Given the description of an element on the screen output the (x, y) to click on. 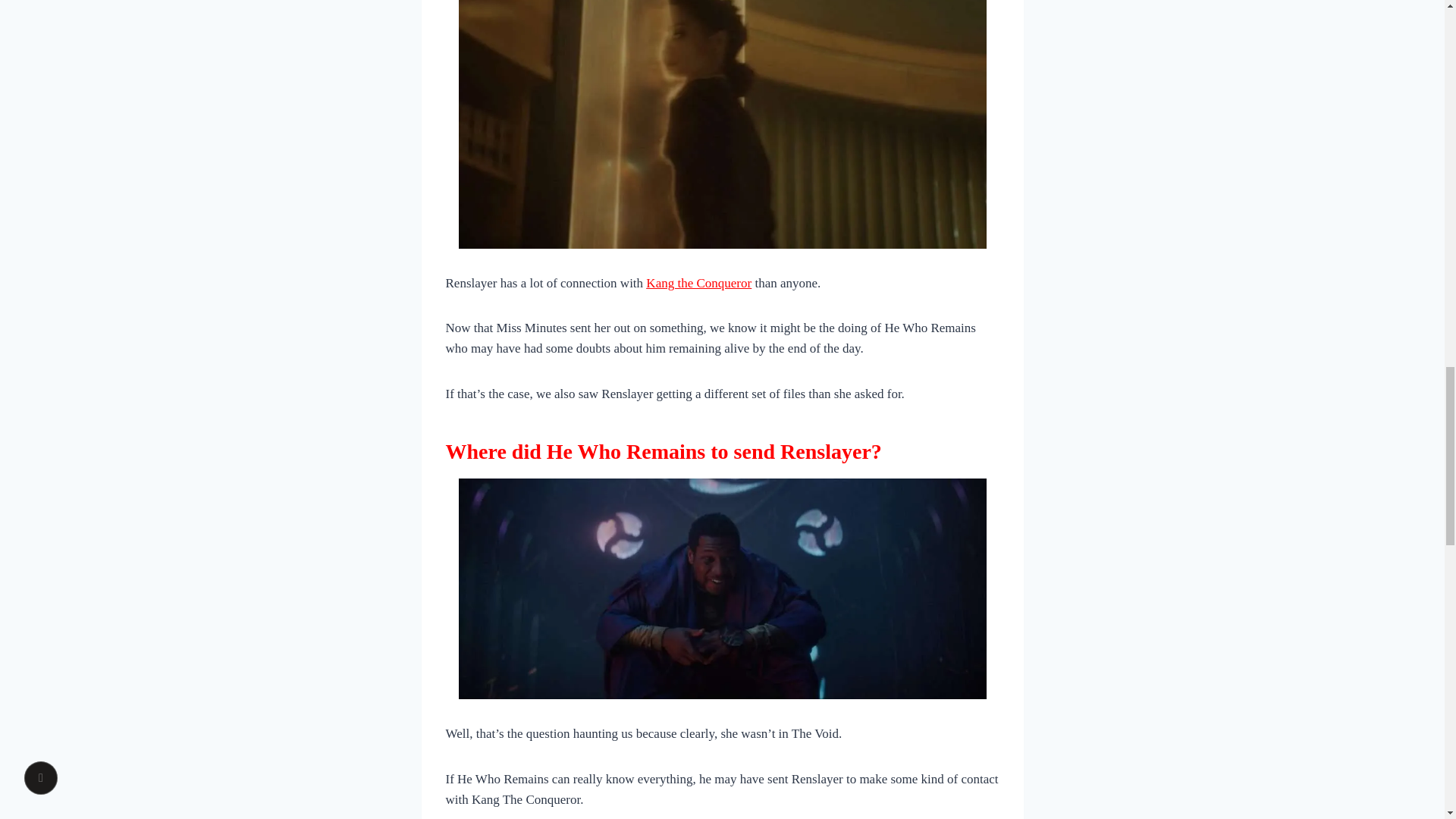
Kang the Conqueror (698, 283)
